Given the description of an element on the screen output the (x, y) to click on. 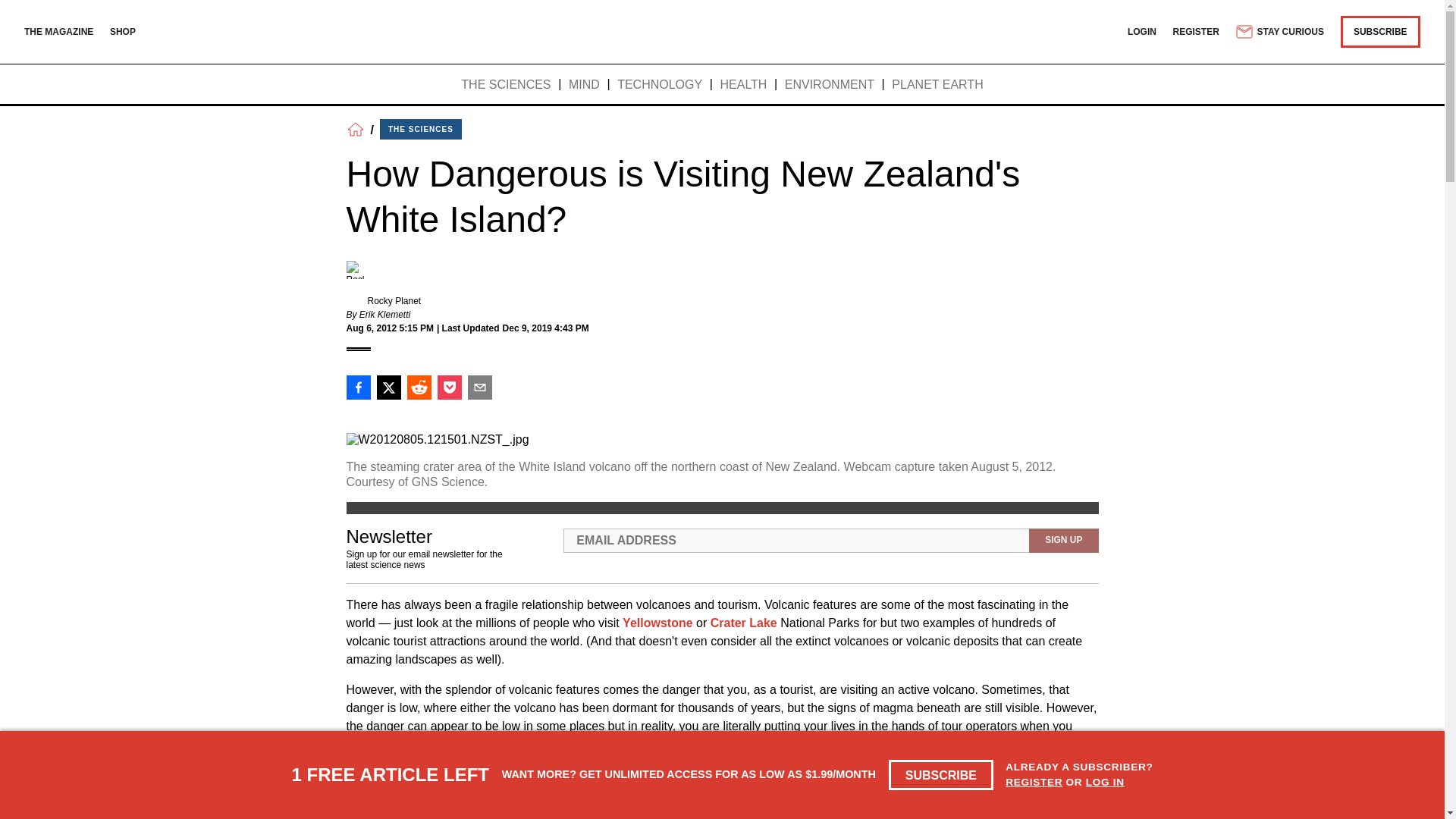
SHOP (122, 31)
Crater Lake (743, 622)
the volcanic arc (644, 792)
Rocky Planet (393, 300)
Ruapehu in the south (408, 810)
THE MAGAZINE (58, 31)
TECHNOLOGY (659, 84)
STAY CURIOUS (1278, 31)
THE SCIENCES (505, 84)
SUBSCRIBE (1380, 31)
Yellowstone (658, 622)
MIND (584, 84)
THE SCIENCES (420, 128)
HEALTH (743, 84)
Erik Klemetti (384, 314)
